Given the description of an element on the screen output the (x, y) to click on. 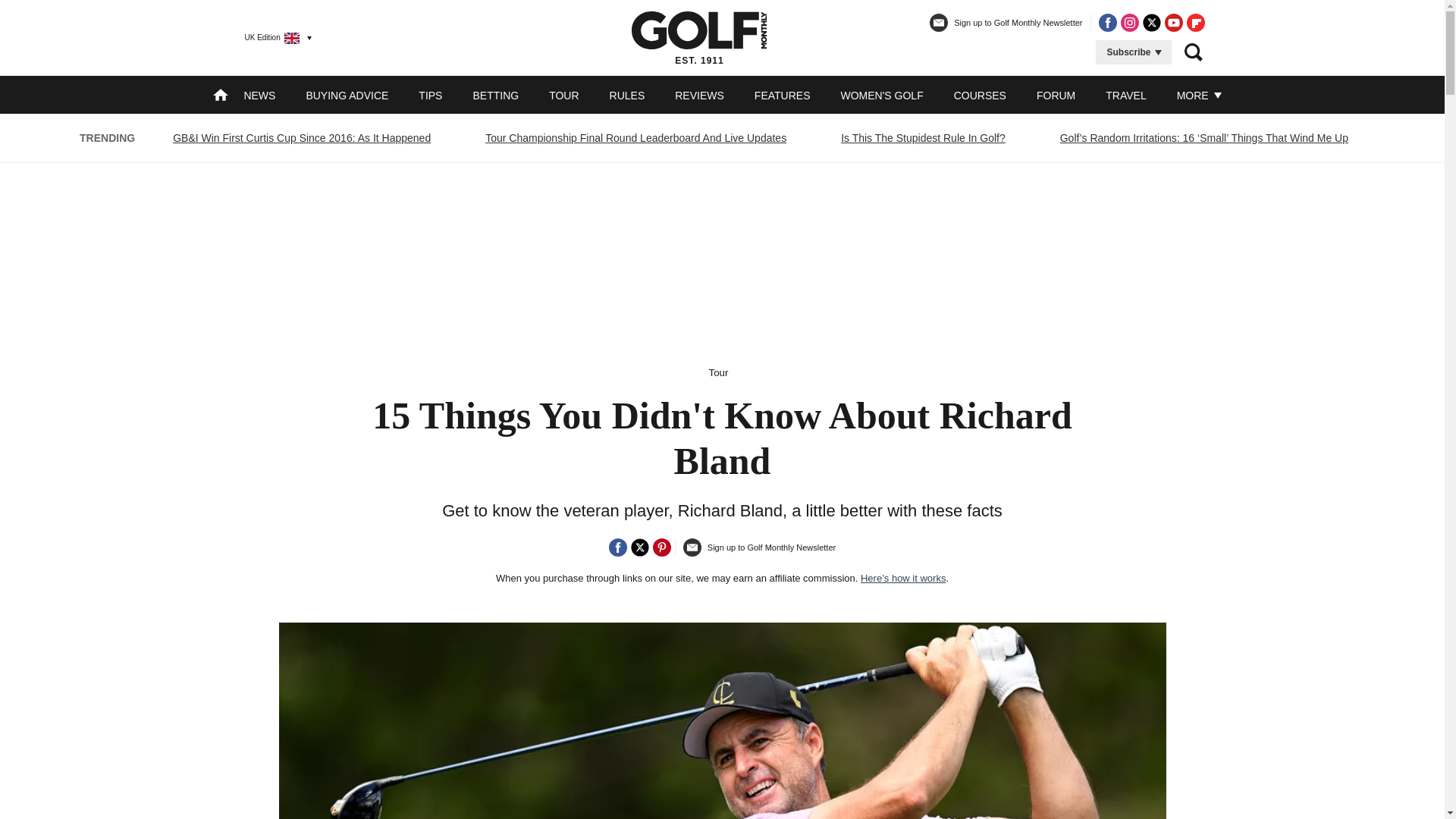
WOMEN'S GOLF (881, 95)
BUYING ADVICE (346, 95)
Tour Championship Final Round Leaderboard And Live Updates (636, 137)
Tour (719, 372)
TRAVEL (1125, 95)
TOUR (563, 95)
RULES (627, 95)
Is This The Stupidest Rule In Golf? (922, 137)
FEATURES (782, 95)
UK Edition (271, 37)
